Given the description of an element on the screen output the (x, y) to click on. 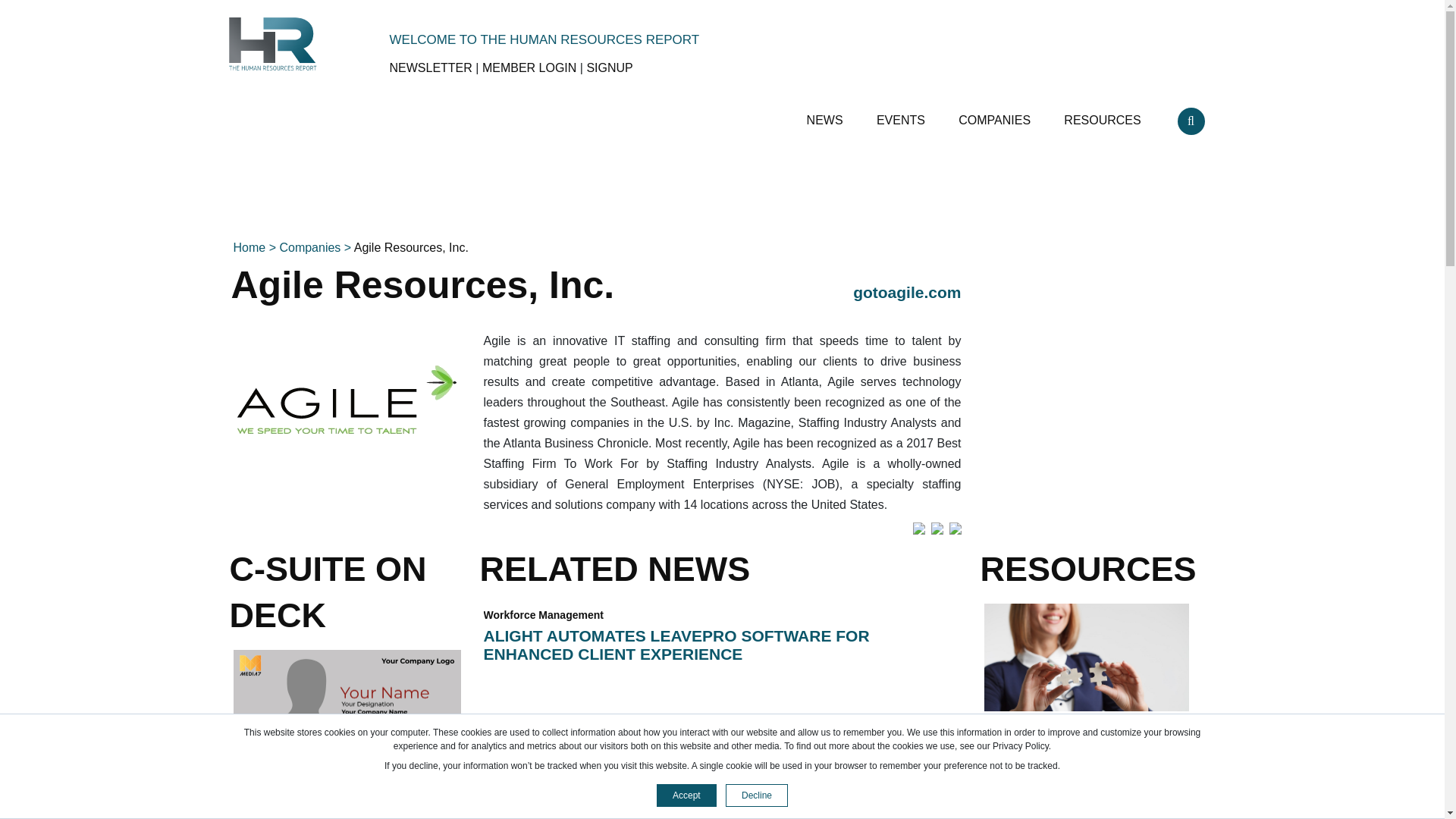
MEMBER LOGIN (528, 67)
NEWSLETTER (430, 67)
Advertisement (1094, 360)
COMPANIES (996, 113)
EVENTS (901, 113)
NEWS (825, 113)
SIGNUP (608, 67)
Advertisement (721, 191)
RESOURCES (1104, 113)
